Given the description of an element on the screen output the (x, y) to click on. 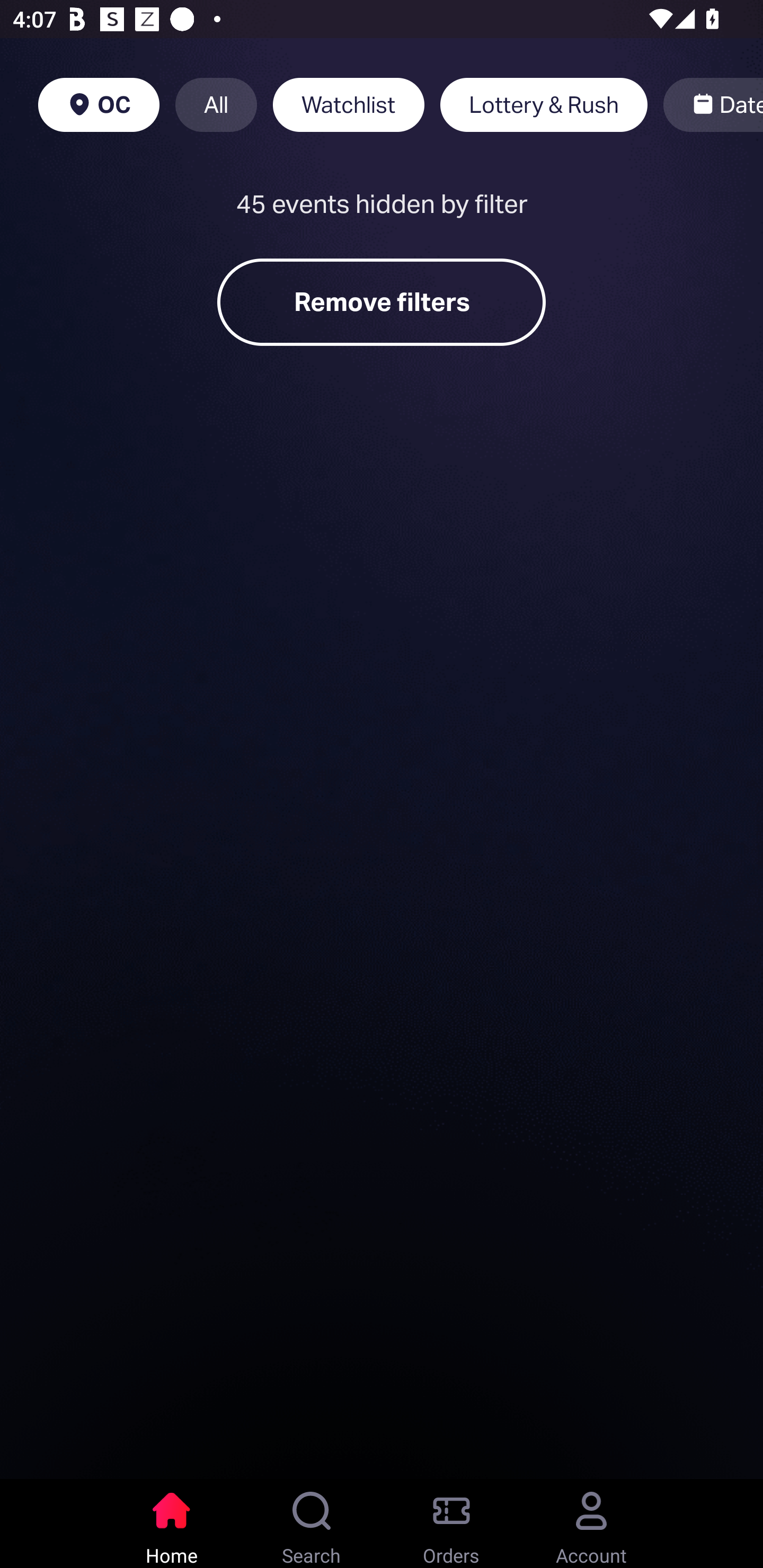
OC (98, 104)
All (216, 104)
Watchlist (348, 104)
Lottery & Rush (543, 104)
Remove filters (381, 302)
Search (311, 1523)
Orders (451, 1523)
Account (591, 1523)
